Given the description of an element on the screen output the (x, y) to click on. 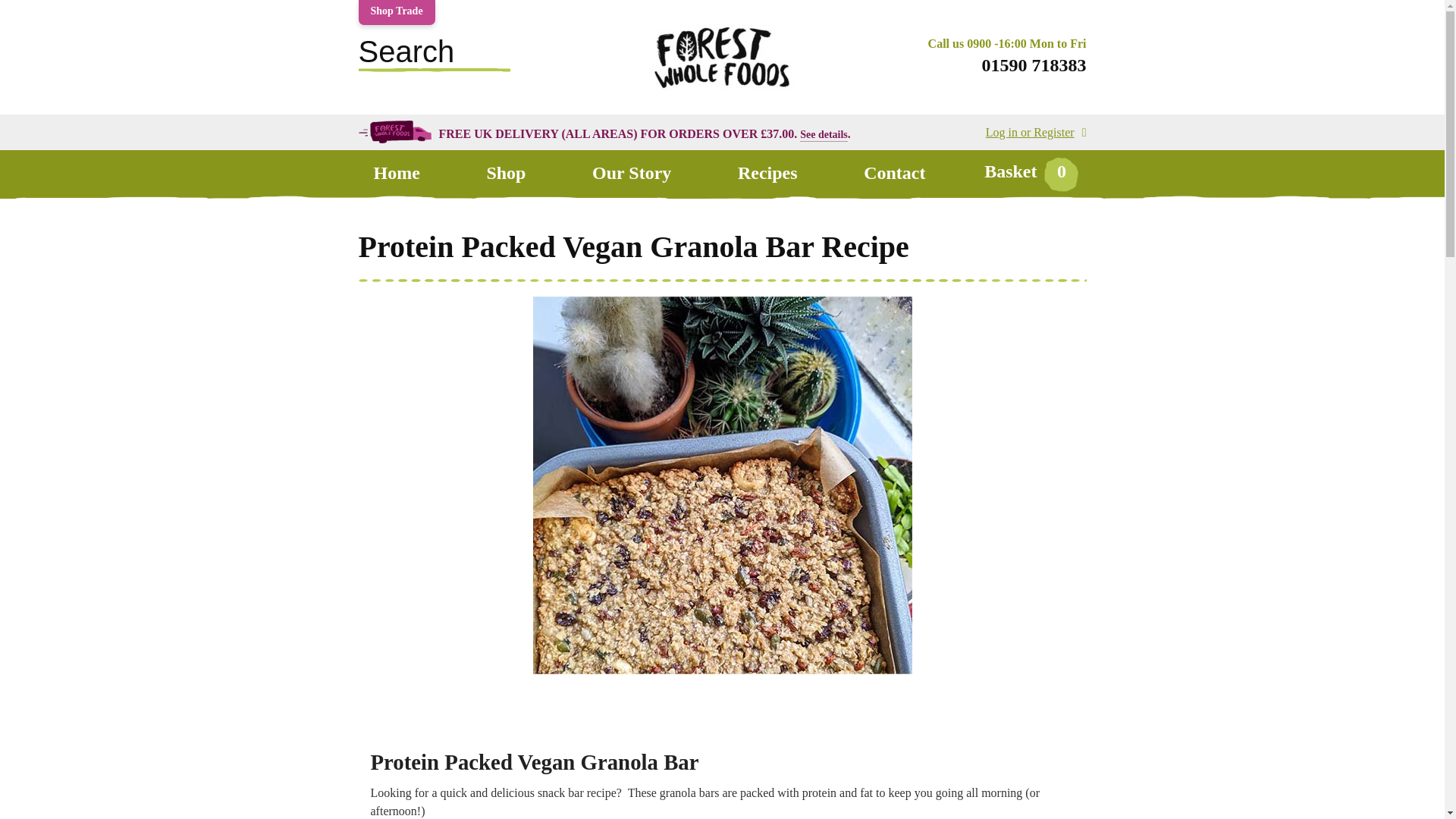
Home (395, 172)
See details (823, 134)
Shop Trade (395, 12)
Forest Whole Foods (721, 93)
Log in or Register (1035, 131)
Shop (505, 172)
Existing customer? Log in or Register (1035, 131)
